Given the description of an element on the screen output the (x, y) to click on. 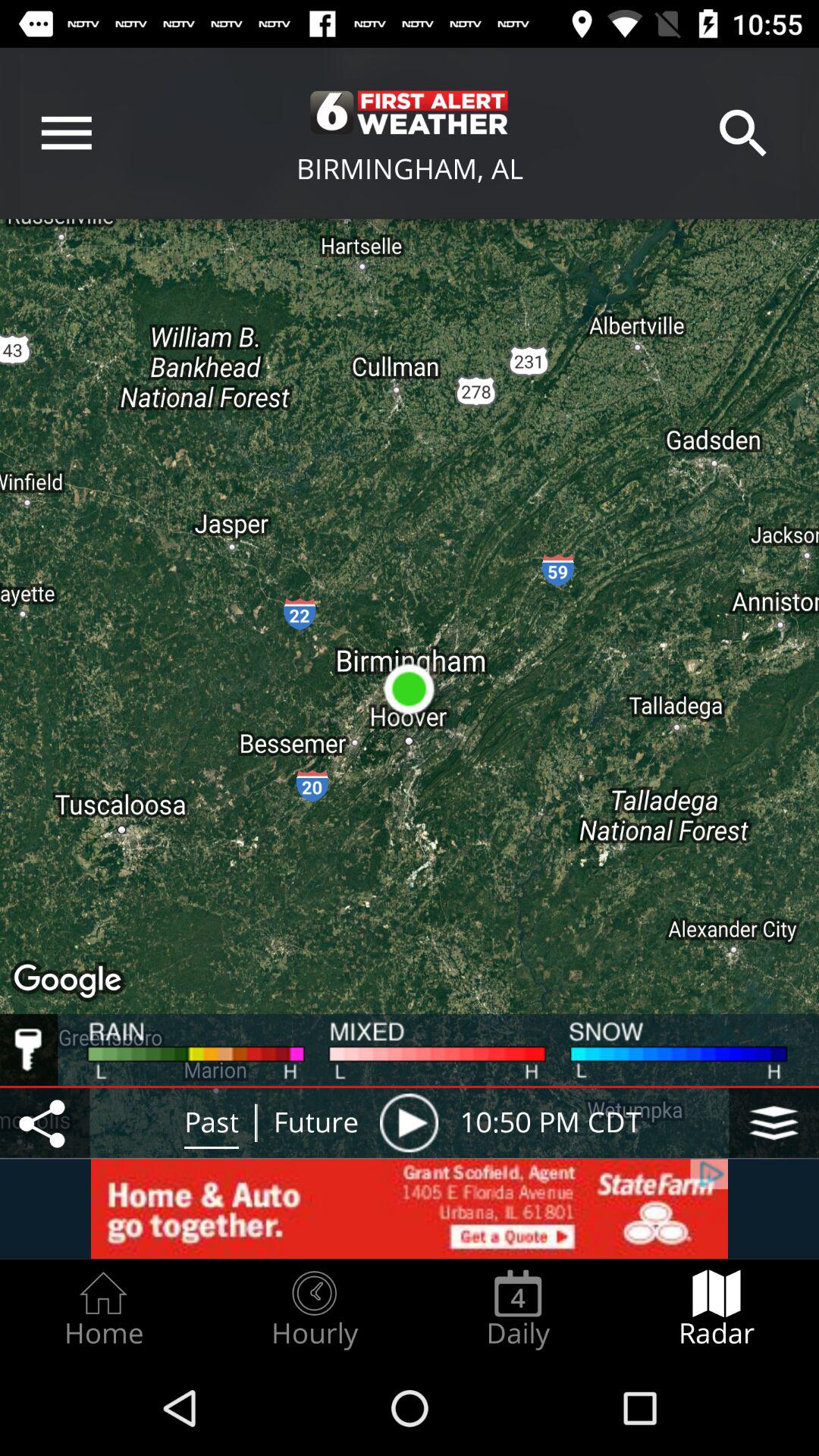
launch item to the right of the home item (314, 1309)
